Given the description of an element on the screen output the (x, y) to click on. 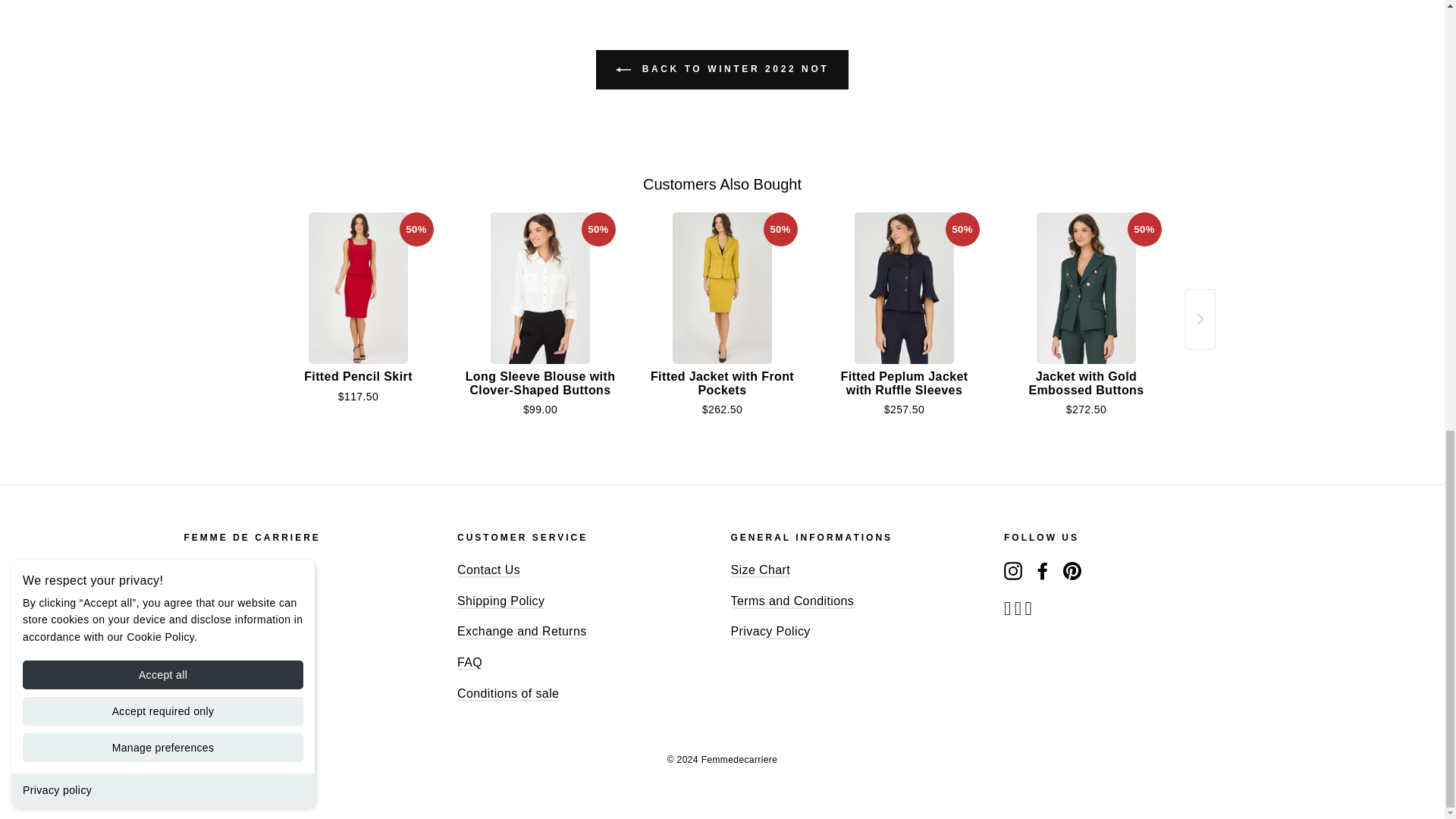
Jacket with Gold Embossed Buttons (1086, 287)
Fitted Pencil Skirt (358, 287)
Long Sleeve Blouse with Clover-Shaped Buttons (540, 287)
Fitted Peplum Jacket with Ruffle Sleeves (904, 287)
Fitted Jacket with Front Pockets (722, 287)
